Given the description of an element on the screen output the (x, y) to click on. 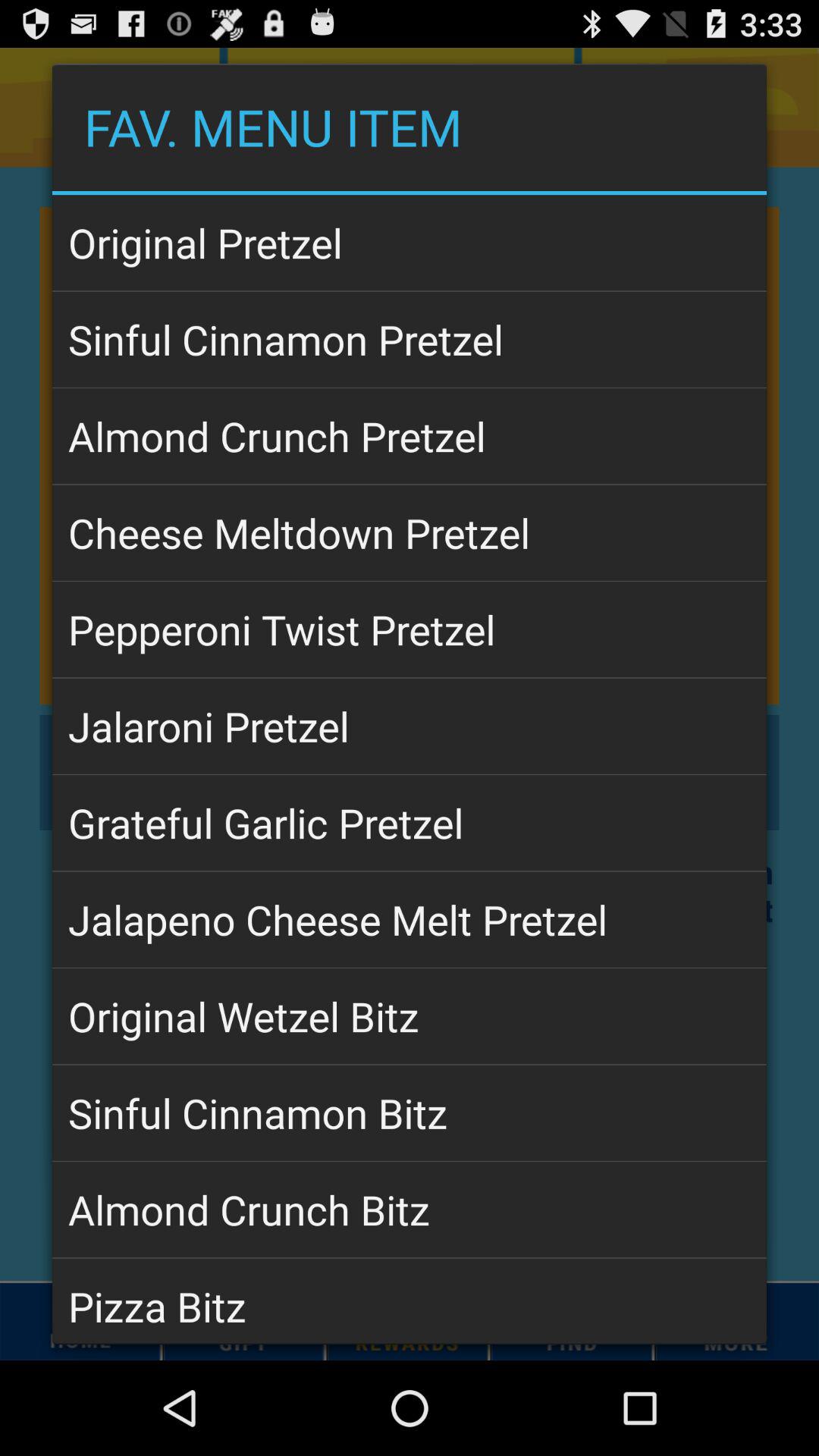
choose pizza bitz app (409, 1301)
